Given the description of an element on the screen output the (x, y) to click on. 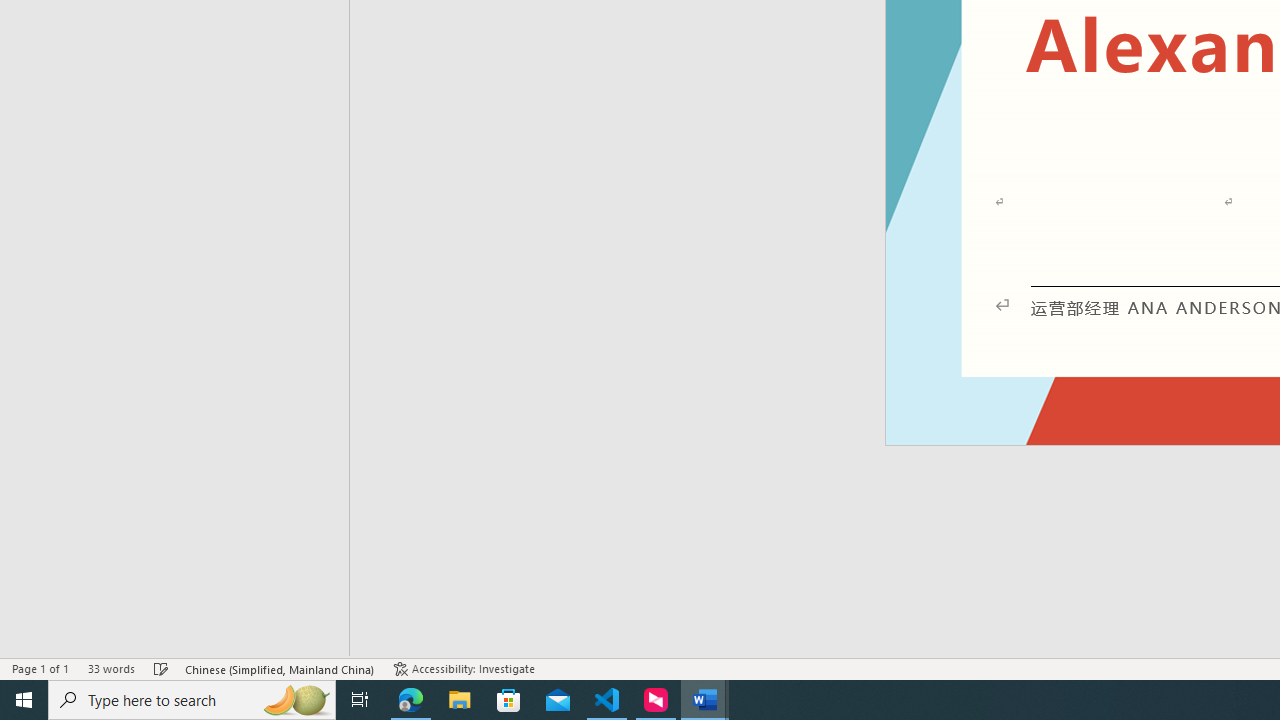
Page Number Page 1 of 1 (39, 668)
